Given the description of an element on the screen output the (x, y) to click on. 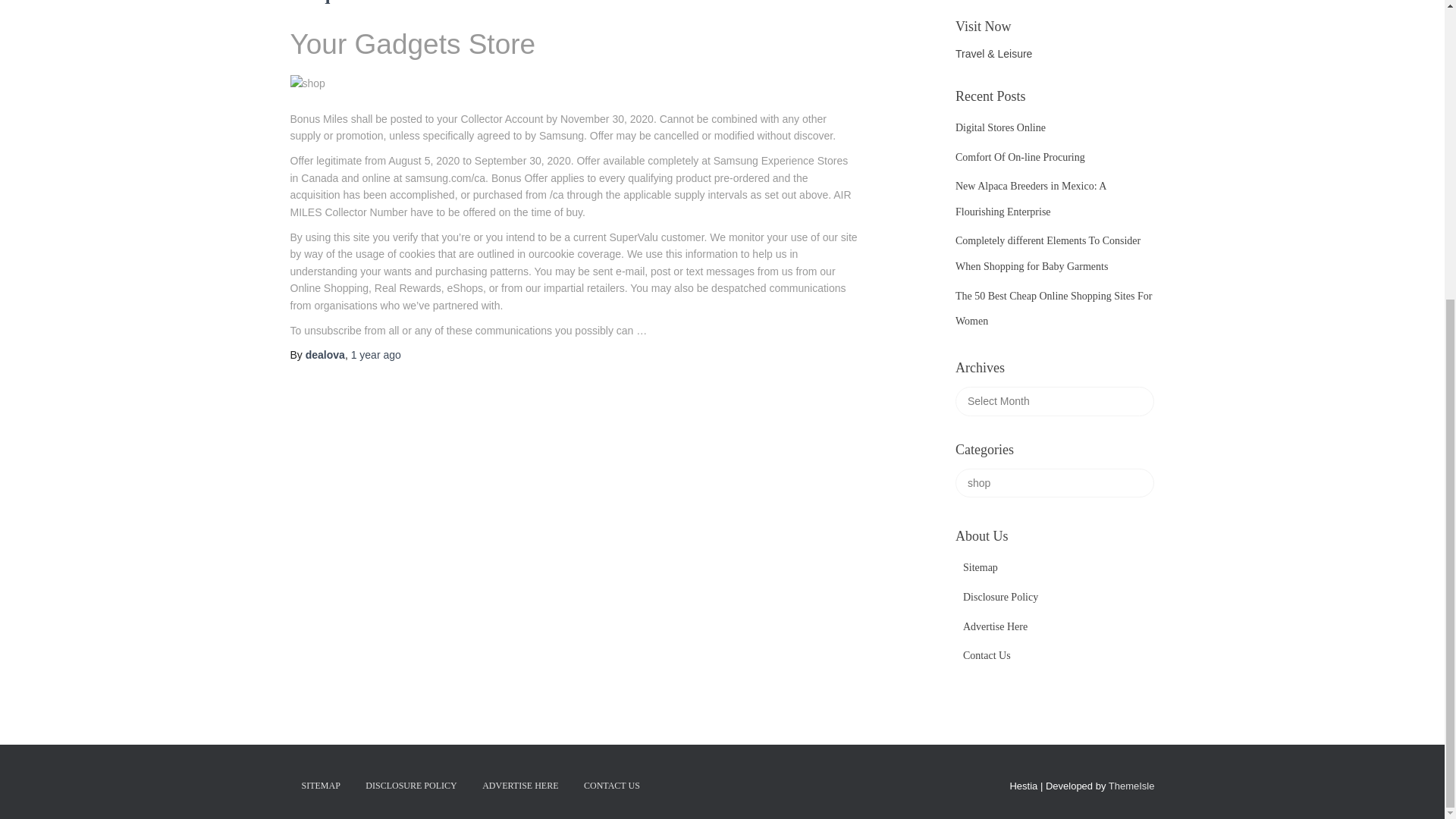
1 year ago (375, 354)
dealova (325, 354)
